Given the description of an element on the screen output the (x, y) to click on. 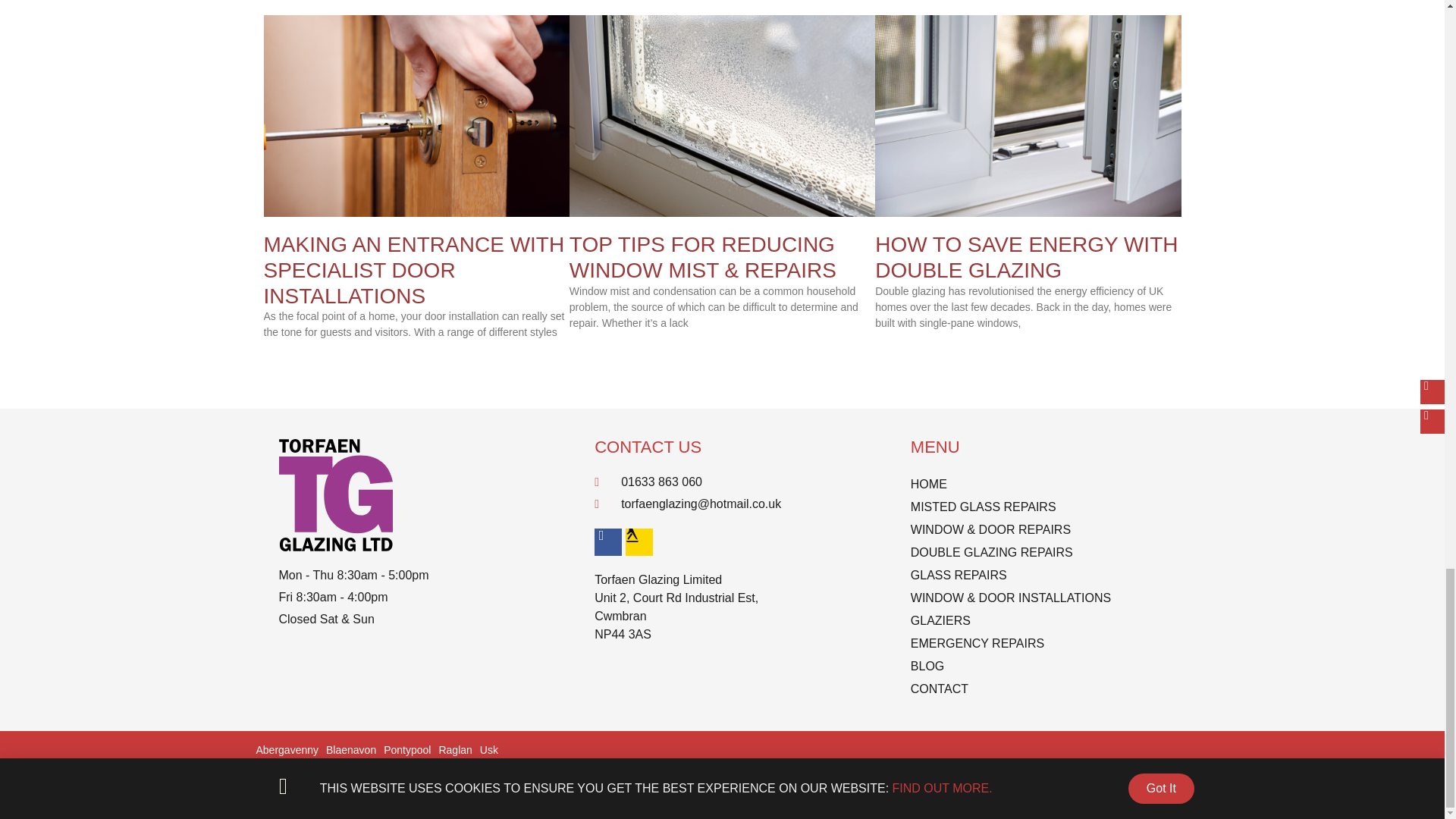
MAKING AN ENTRANCE WITH SPECIALIST DOOR INSTALLATIONS (413, 269)
01633 863 060 (722, 482)
HOW TO SAVE ENERGY WITH DOUBLE GLAZING (1026, 256)
